Given the description of an element on the screen output the (x, y) to click on. 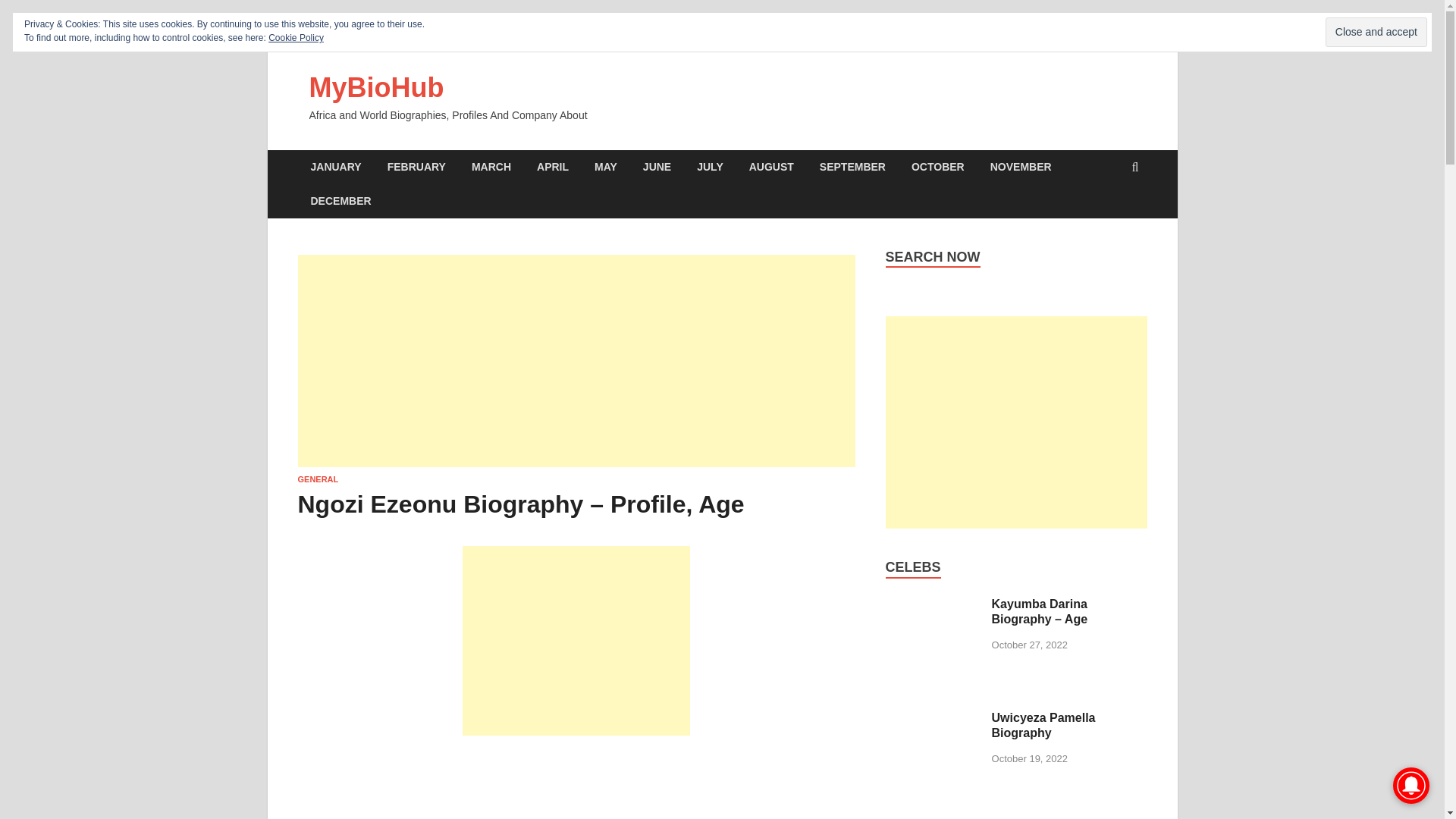
OCTOBER (937, 166)
AUGUST (771, 166)
About Us (779, 35)
DECEMBER (340, 201)
NOVEMBER (1020, 166)
MARCH (491, 166)
FEBRUARY (416, 166)
Advertisement (576, 640)
SEPTEMBER (852, 166)
MAY (605, 166)
